Given the description of an element on the screen output the (x, y) to click on. 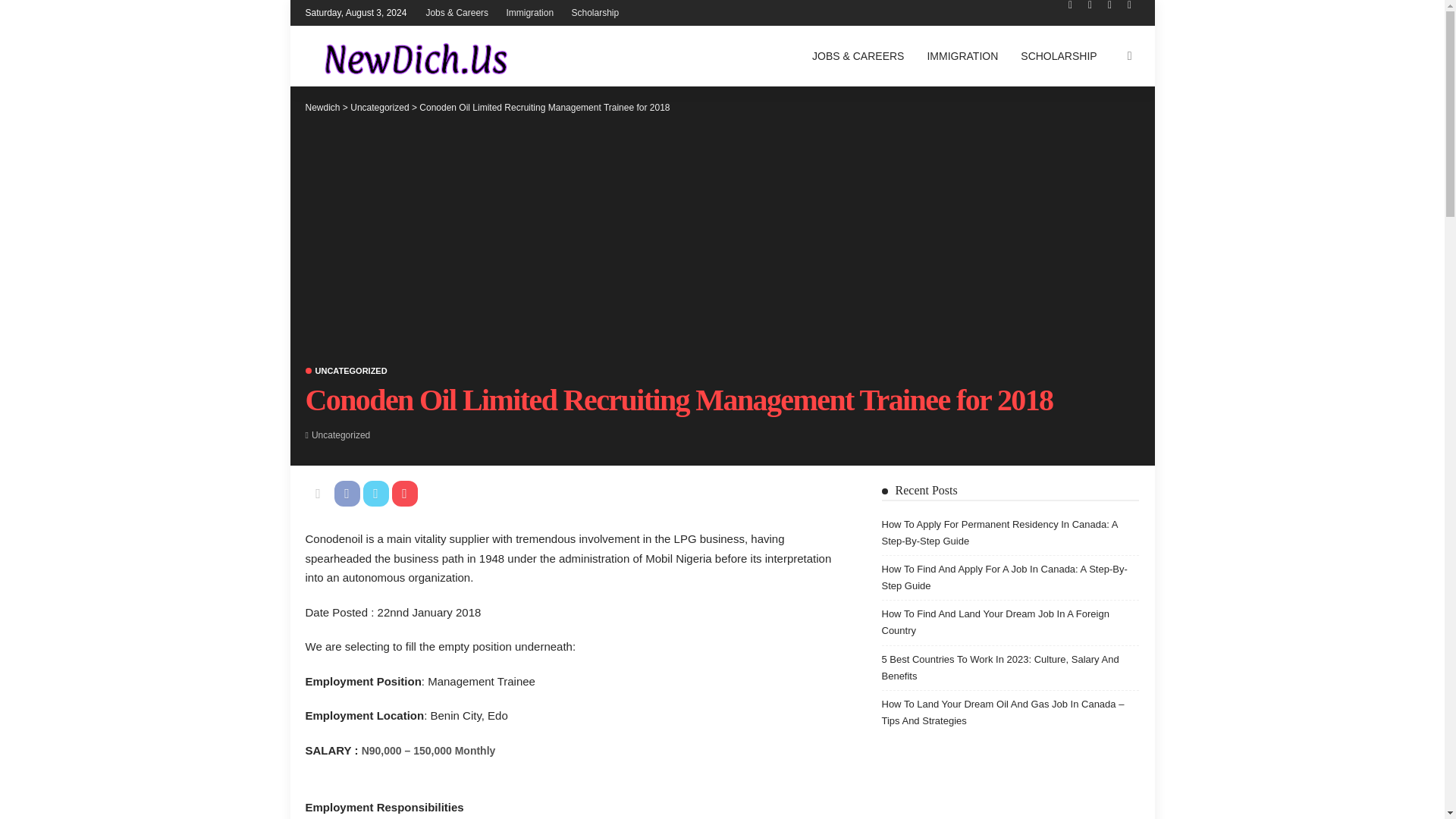
Go to Newdich. (321, 107)
Uncategorized (340, 435)
Uncategorized (345, 370)
Go to the Uncategorized Category archives. (379, 107)
UNCATEGORIZED (345, 370)
Newdich (409, 55)
Uncategorized (340, 435)
IMMIGRATION (962, 55)
Newdich (321, 107)
Immigration (528, 12)
Scholarship (594, 12)
Uncategorized (379, 107)
